Given the description of an element on the screen output the (x, y) to click on. 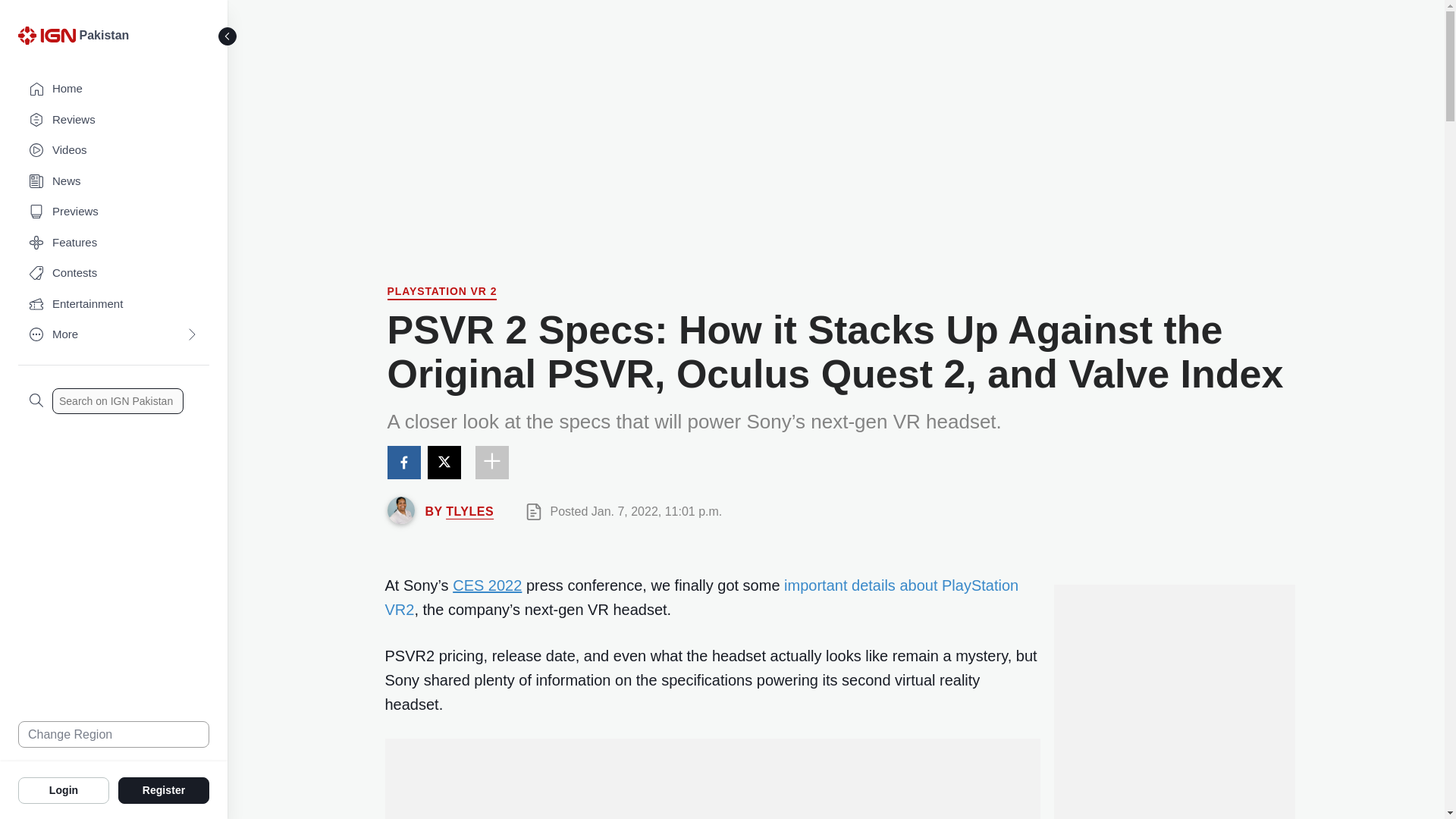
Previews (113, 211)
Features (113, 242)
PLAYSTATION VR 2 (441, 292)
TLYLES (469, 511)
Register (163, 789)
Home (113, 89)
Reviews (113, 119)
Videos (113, 150)
Contests (113, 273)
important details about PlayStation VR2 (702, 597)
IGN Logo (48, 39)
Toggle Sidebar (226, 36)
IGN Logo (46, 34)
Entertainment (113, 304)
PlayStation VR 2 (441, 292)
